Given the description of an element on the screen output the (x, y) to click on. 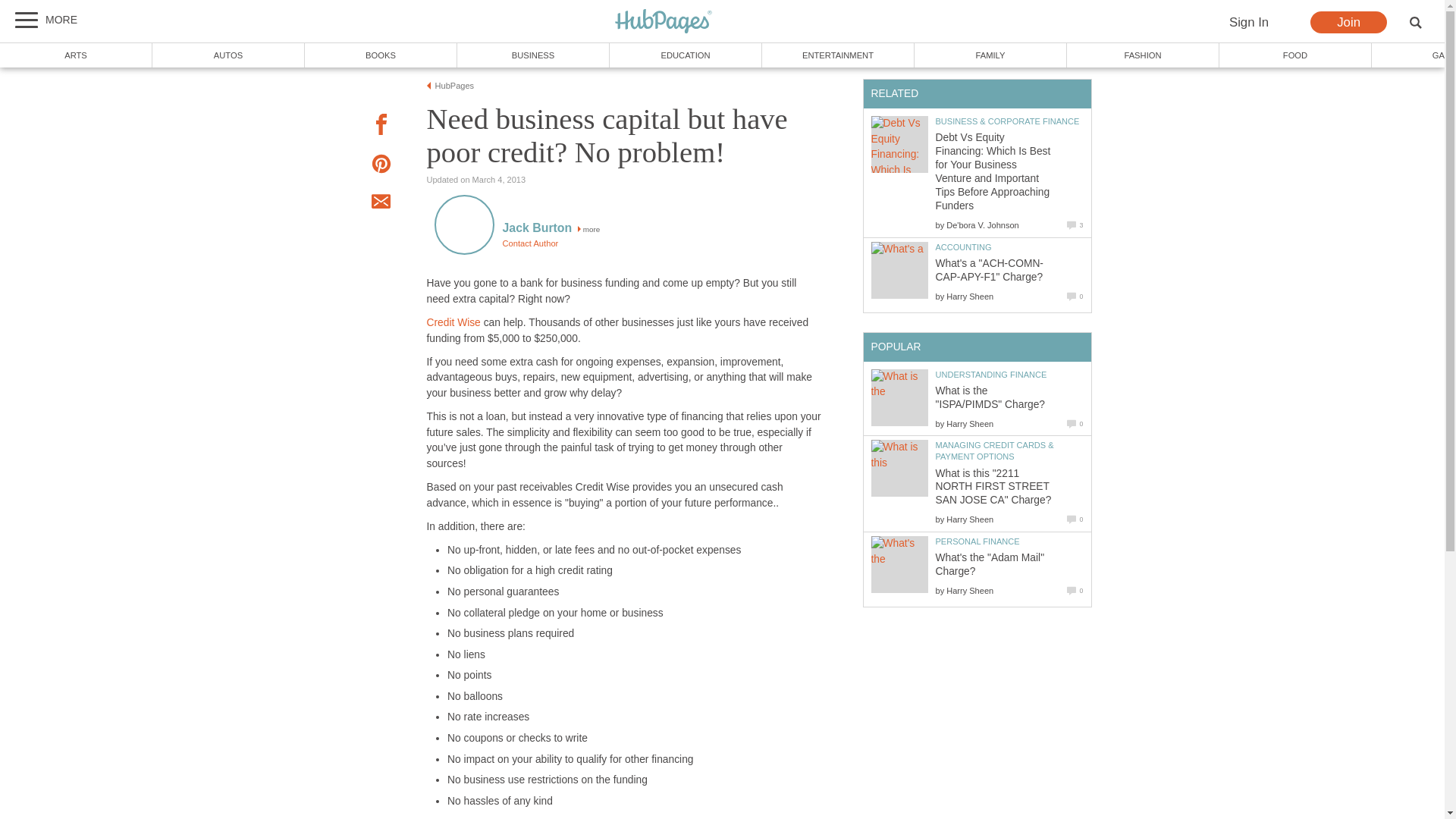
HubPages (663, 21)
Contact Author (529, 243)
Sign In (1248, 22)
ARTS (76, 55)
What is the  (898, 383)
FOOD (1295, 55)
AUTOS (228, 55)
FAMILY (990, 55)
Credit Wise (453, 322)
